Given the description of an element on the screen output the (x, y) to click on. 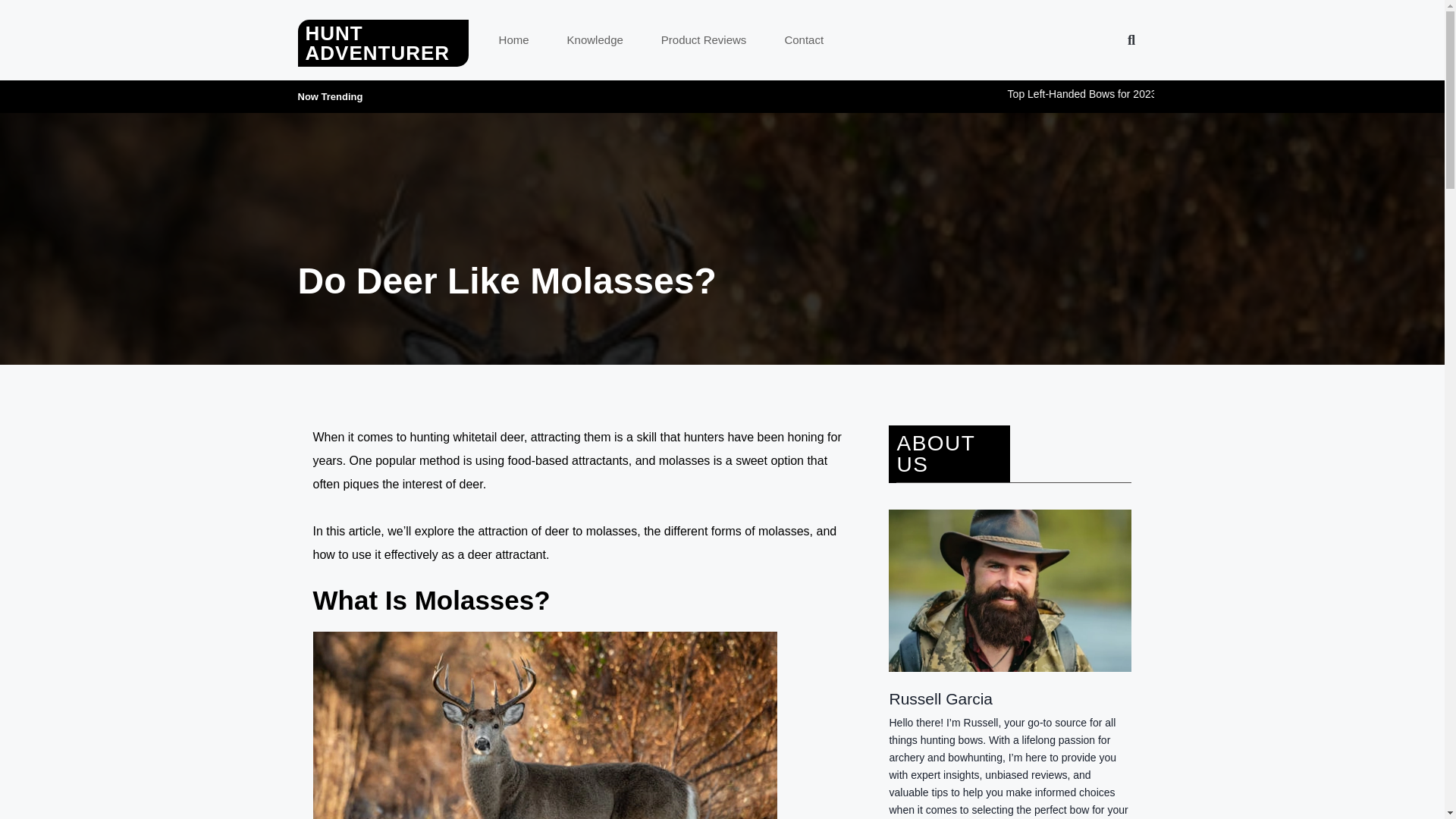
Home (513, 39)
Knowledge (595, 39)
HUNT ADVENTURER (376, 43)
Contact (803, 39)
Top Left-Handed Bows for 2023 (1204, 93)
Product Reviews (703, 39)
